Given the description of an element on the screen output the (x, y) to click on. 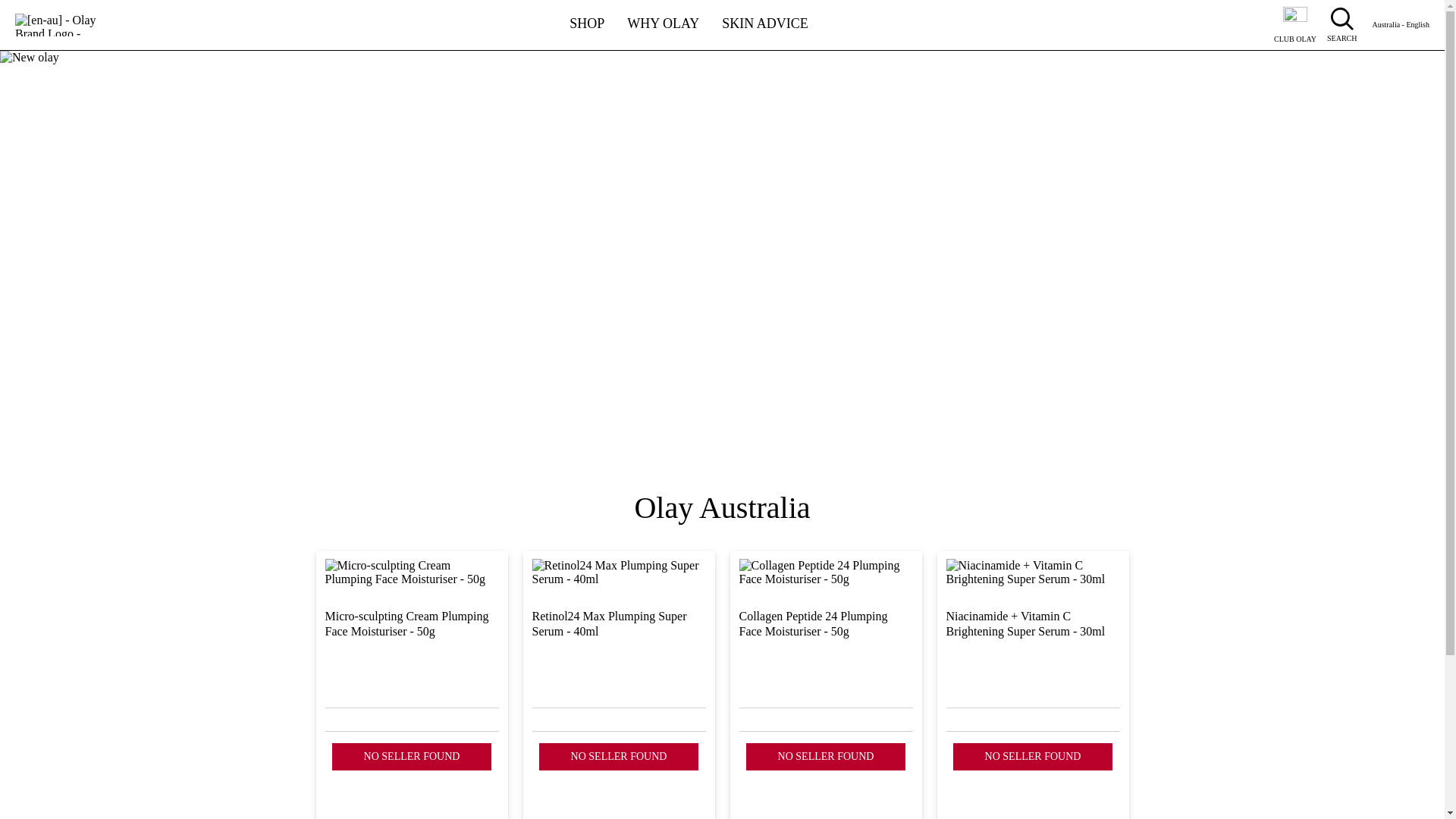
NO SELLER FOUND Element type: text (826, 756)
New olay Element type: hover (722, 262)
NO SELLER FOUND Element type: text (619, 756)
Collagen Peptide 24 Plumping Face Moisturiser - 50g Element type: text (825, 644)
Micro-sculpting Cream Plumping Face Moisturiser - 50g Element type: text (411, 646)
CLUB OLAY Element type: text (1295, 24)
WHY OLAY Element type: text (662, 17)
[en-au] -  Olay Brand Logo  Element type: hover (55, 24)
Micro-sculpting Cream Plumping Face Moisturiser - 50g Element type: text (411, 644)
Niacinamide + Vitamin C Brightening Super Serum - 30ml Element type: text (1033, 644)
Retinol24 Max Plumping Super Serum - 40ml Element type: text (619, 644)
SKIN ADVICE Element type: text (764, 17)
NO SELLER FOUND Element type: text (1033, 756)
Collagen Peptide 24 Plumping Face Moisturiser - 50g Element type: text (825, 646)
SHOP Element type: text (586, 17)
NO SELLER FOUND Element type: text (412, 756)
SEARCH Element type: text (1345, 24)
Australia - English Element type: text (1400, 24)
Retinol24 Max Plumping Super Serum - 40ml Element type: text (619, 646)
Niacinamide + Vitamin C Brightening Super Serum - 30ml Element type: text (1033, 646)
